Given the description of an element on the screen output the (x, y) to click on. 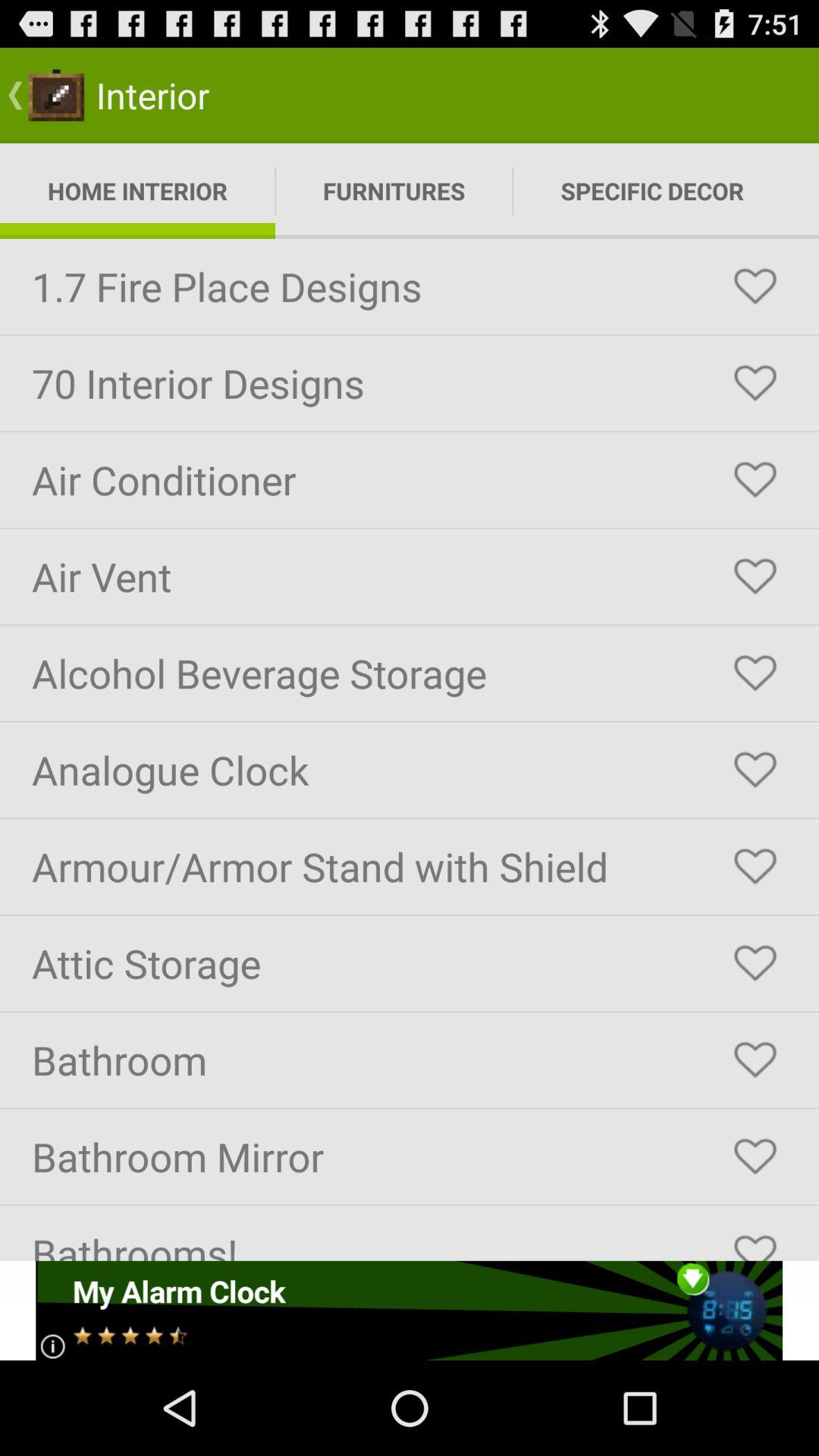
favorite (755, 576)
